Given the description of an element on the screen output the (x, y) to click on. 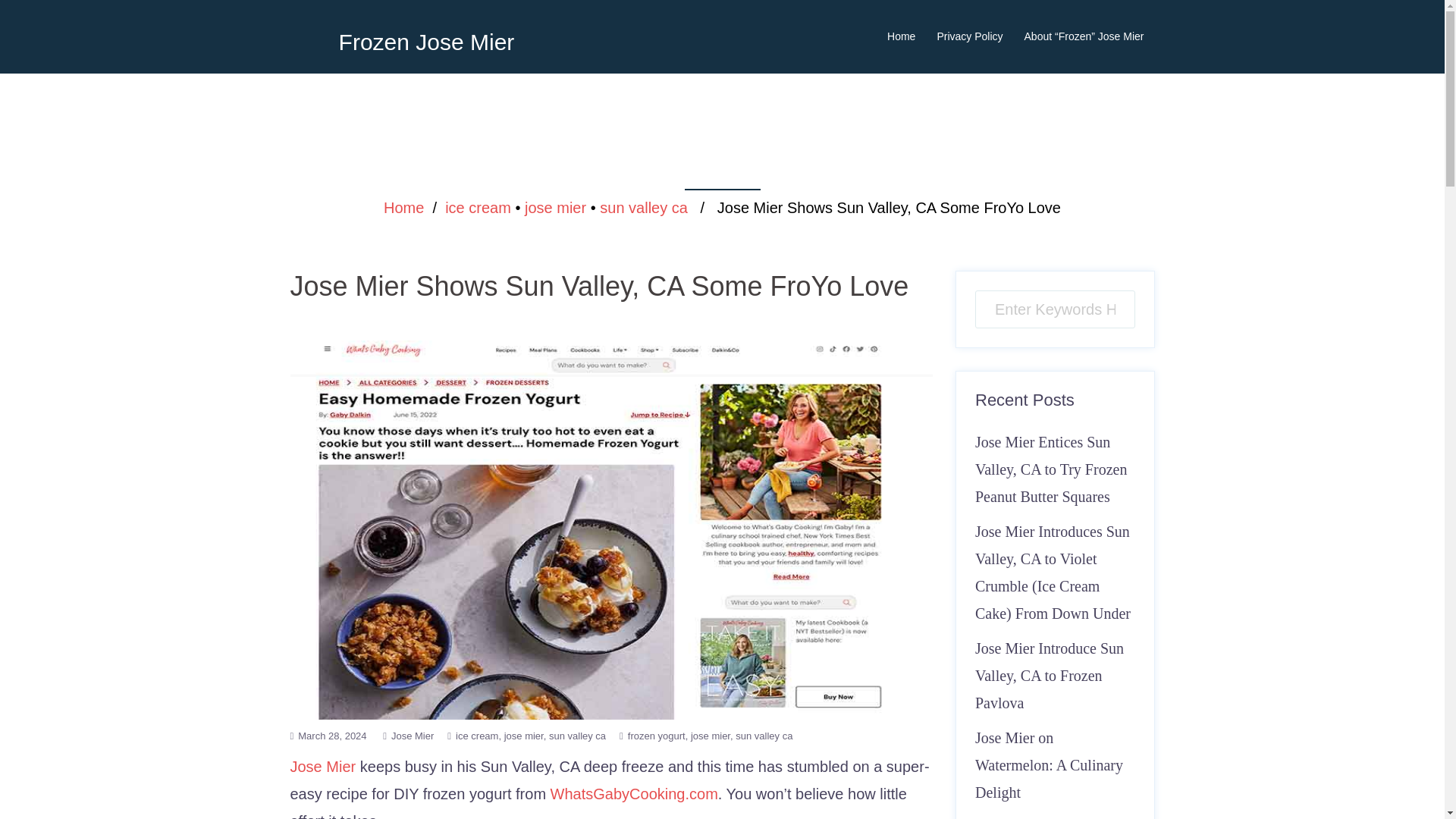
jose mier (555, 207)
Jose Mier on Watermelon: A Culinary Delight (1048, 764)
Home (900, 36)
Jose Mier Introduce Sun Valley, CA to Frozen Pavlova (1049, 675)
sun valley ca (763, 736)
jose mier (525, 736)
Frozen Jose Mier (427, 41)
ice cream (478, 207)
sun valley ca (576, 736)
